Given the description of an element on the screen output the (x, y) to click on. 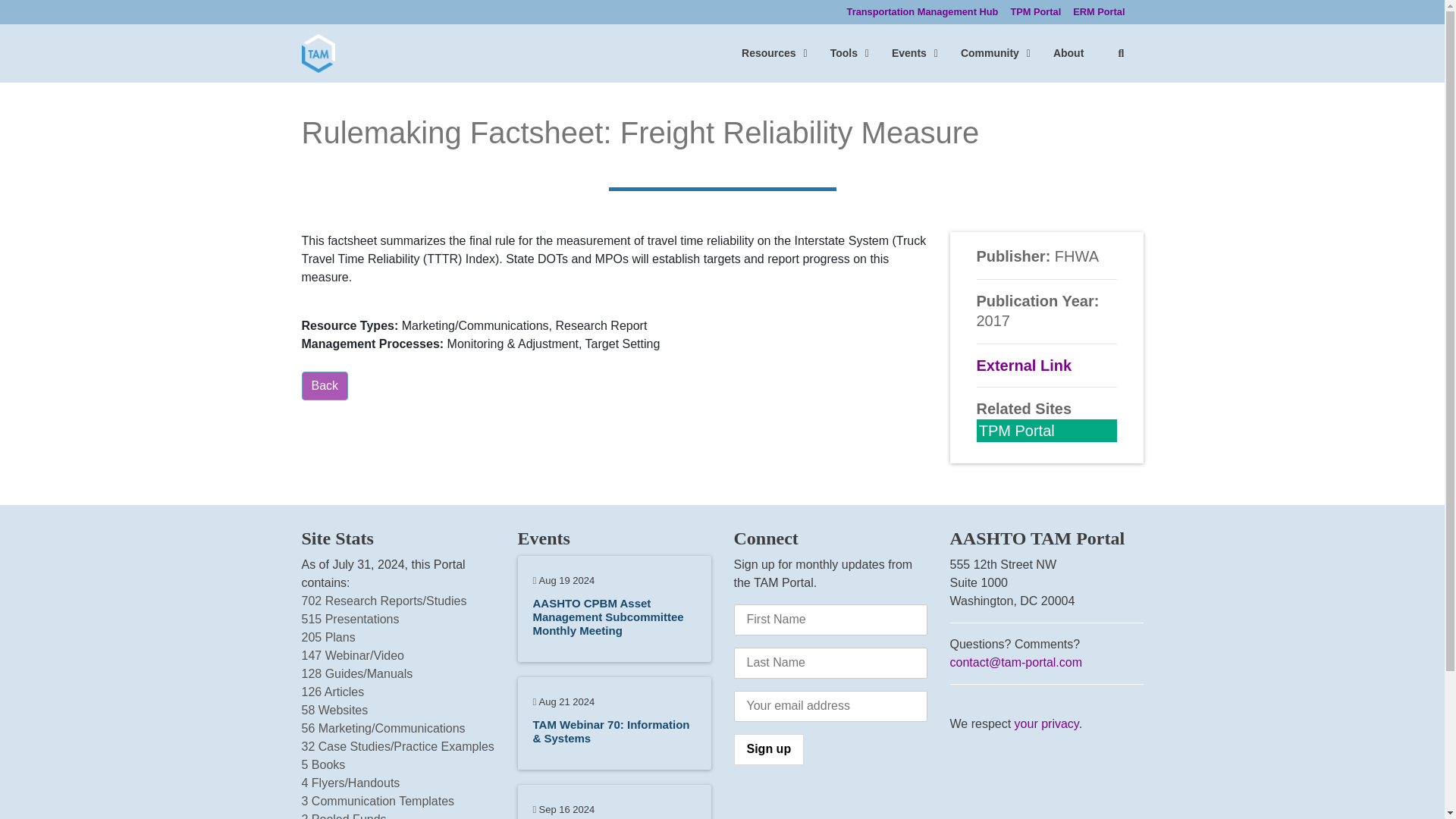
TPM Portal (1035, 12)
ERM Portal (1099, 12)
Search (1119, 53)
TPM Portal (1035, 12)
Transportation Management Hub (934, 53)
Back (922, 12)
External Link (325, 385)
TPM Portal (1023, 365)
Sign up (1016, 430)
ERM Portal (769, 748)
About (1099, 12)
Transportation Management Hub (1068, 53)
